Given the description of an element on the screen output the (x, y) to click on. 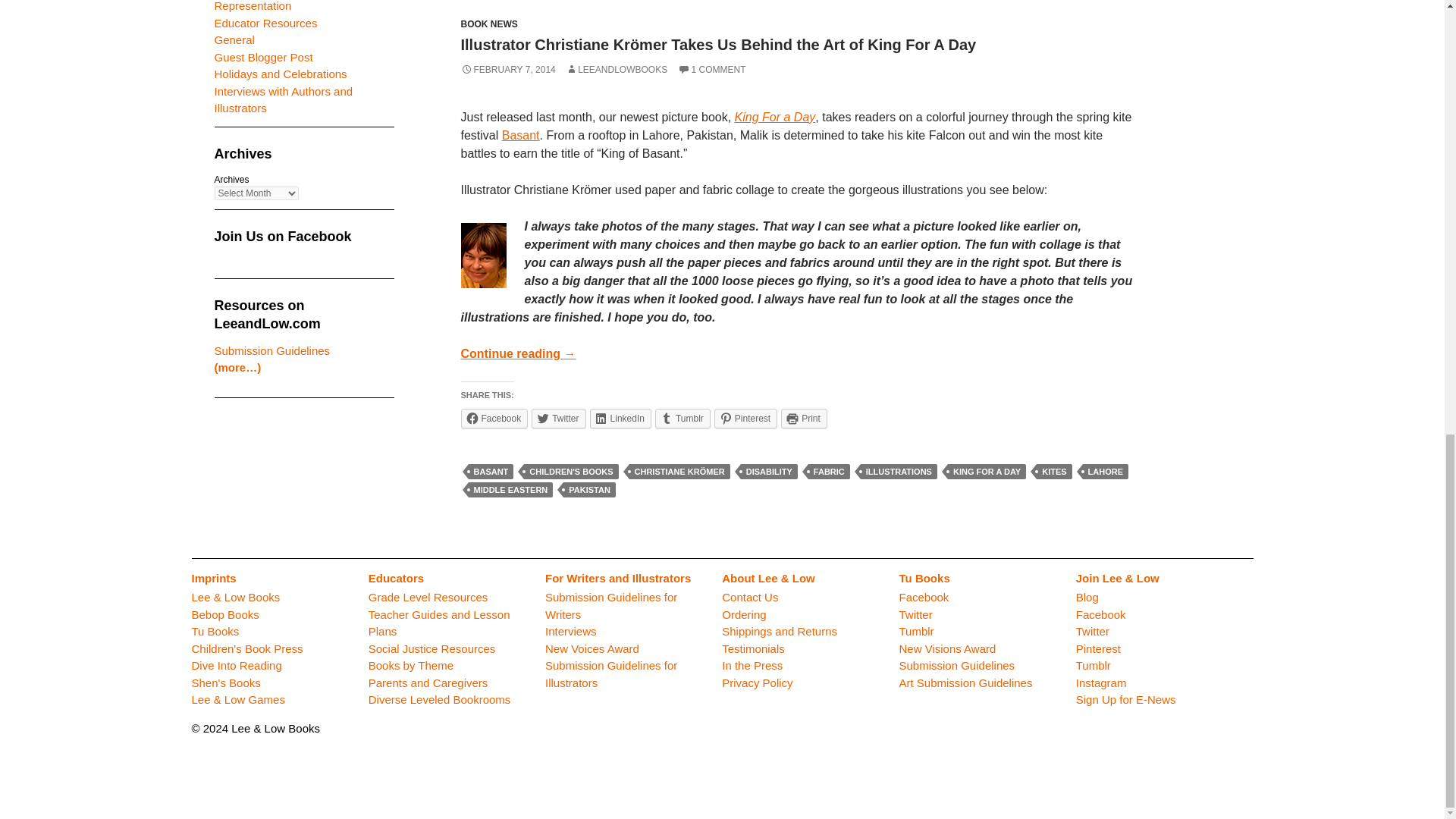
Basant Kite  Festival (521, 134)
1 COMMENT (711, 69)
BOOK NEWS (489, 23)
LEEANDLOWBOOKS (616, 69)
Click to print (803, 418)
FEBRUARY 7, 2014 (508, 69)
King For a Day (775, 116)
Click to share on LinkedIn (619, 418)
LinkedIn (619, 418)
Facebook (494, 418)
Twitter (558, 418)
Click to share on Facebook (494, 418)
Click to share on Pinterest (745, 418)
Click to share on Tumblr (682, 418)
Basant (521, 134)
